Given the description of an element on the screen output the (x, y) to click on. 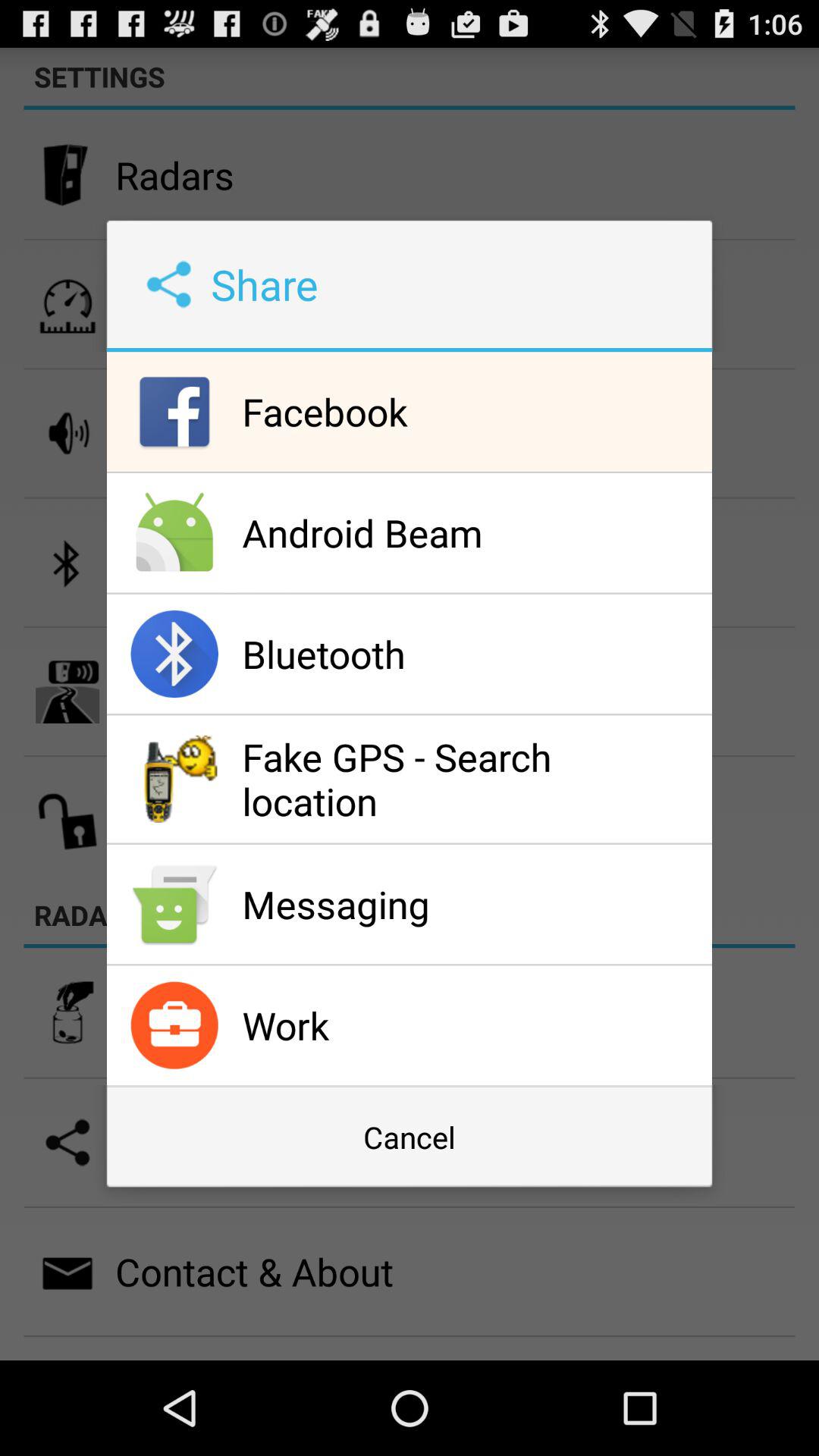
scroll until the work (473, 1024)
